Given the description of an element on the screen output the (x, y) to click on. 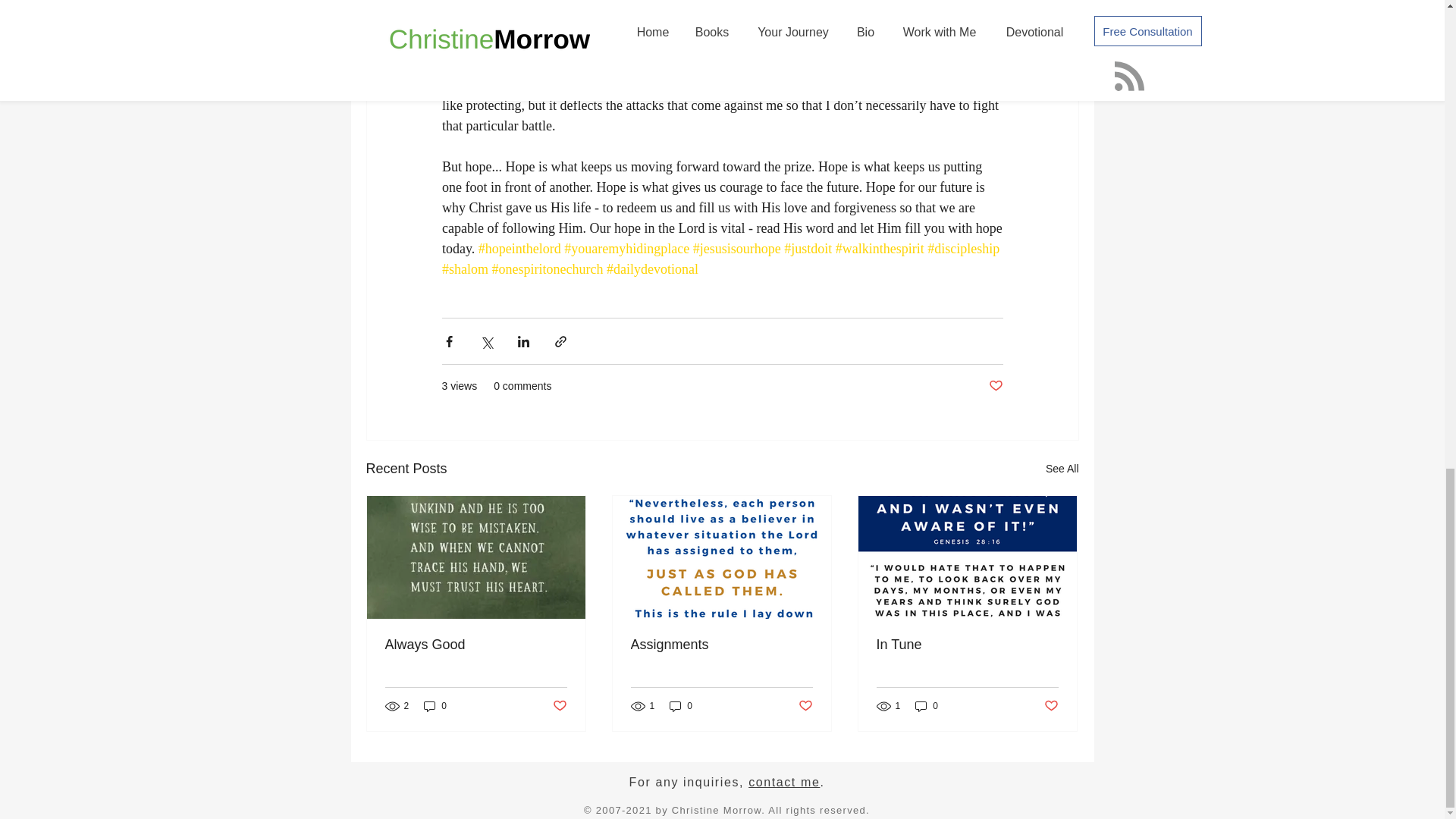
In Tune (967, 644)
Post not marked as liked (1050, 706)
See All (1061, 468)
0 (926, 706)
Always Good (476, 644)
0 (681, 706)
Post not marked as liked (995, 385)
0 (435, 706)
contact me (783, 781)
Assignments (721, 644)
